Given the description of an element on the screen output the (x, y) to click on. 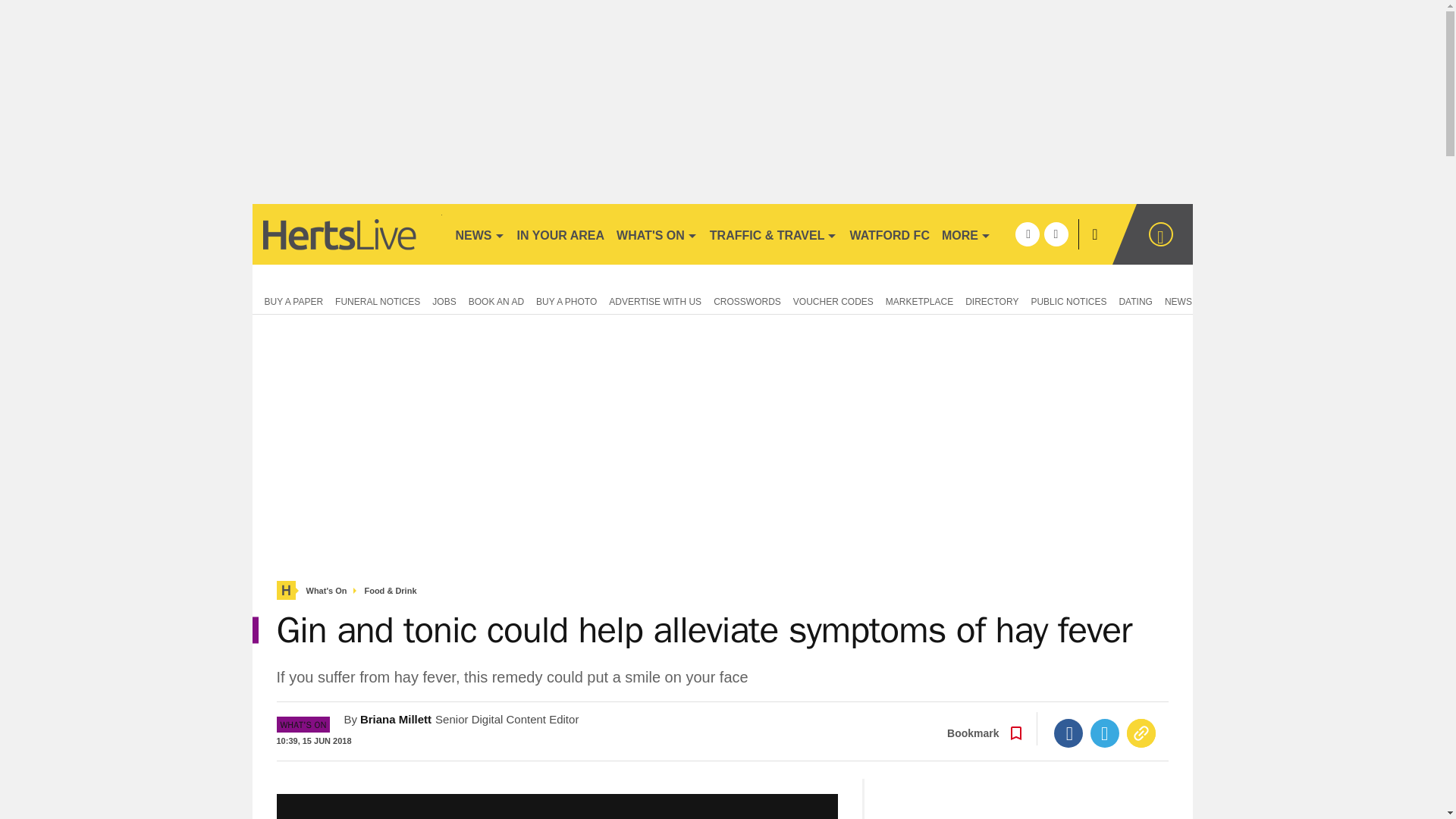
Facebook (1068, 733)
WATFORD FC (888, 233)
twitter (1055, 233)
Twitter (1104, 733)
NEWS (479, 233)
WHAT'S ON (656, 233)
MORE (966, 233)
hertfordshiremercury (346, 233)
IN YOUR AREA (561, 233)
facebook (1026, 233)
